Given the description of an element on the screen output the (x, y) to click on. 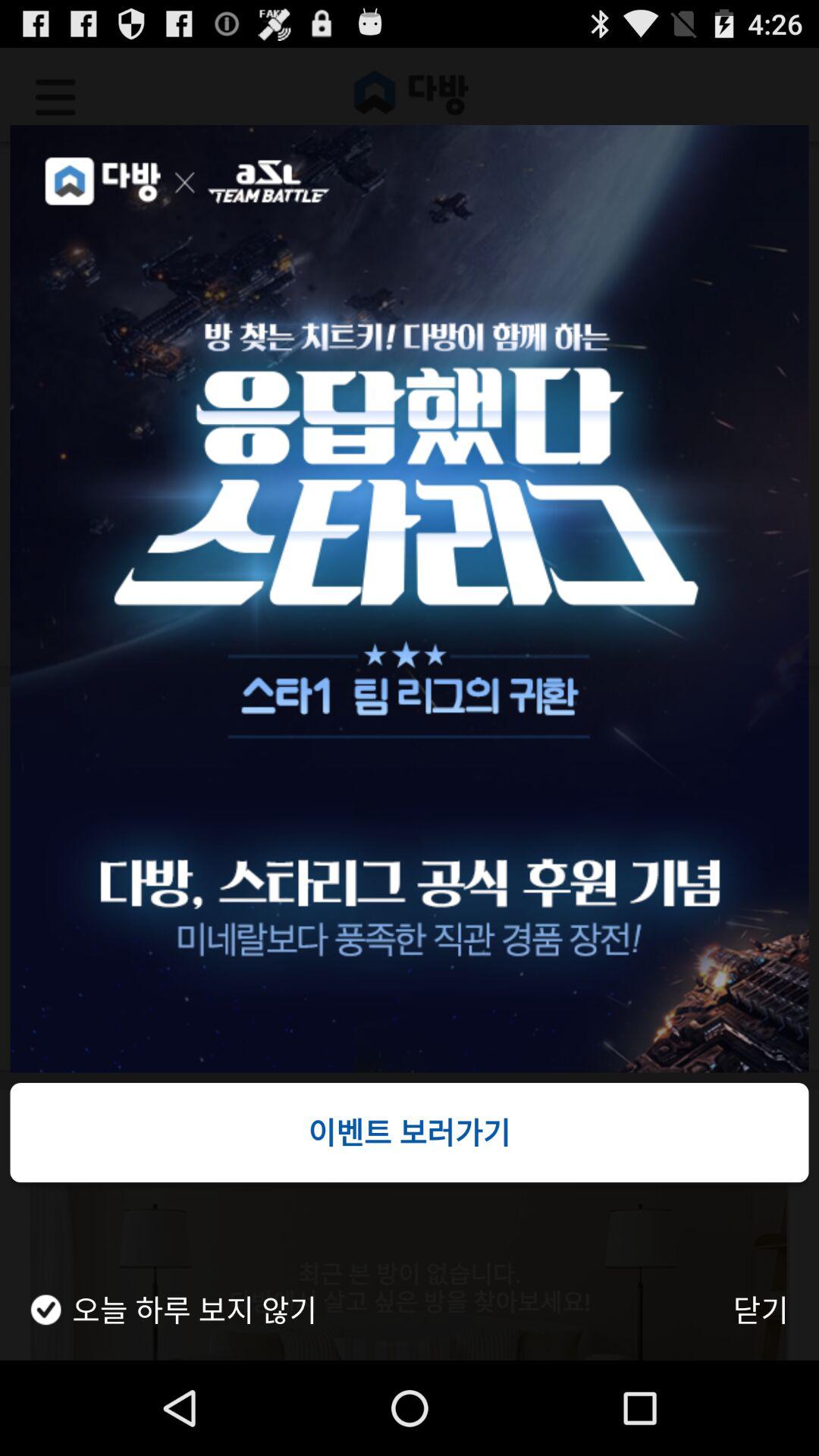
click item at the bottom (409, 1132)
